Given the description of an element on the screen output the (x, y) to click on. 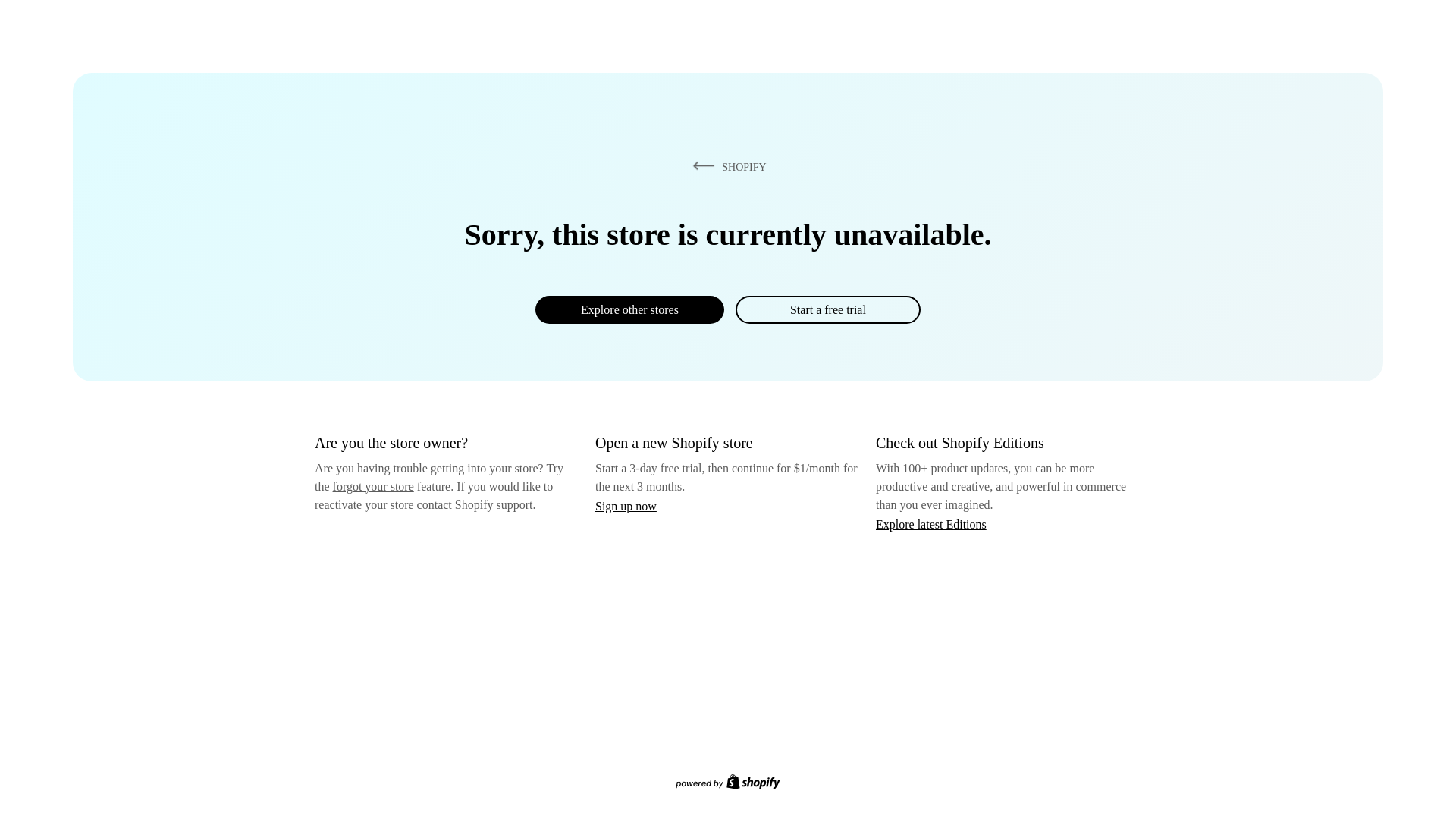
Start a free trial (827, 309)
SHOPIFY (726, 166)
Shopify support (493, 504)
forgot your store (373, 486)
Explore latest Editions (931, 523)
Explore other stores (629, 309)
Sign up now (625, 505)
